Given the description of an element on the screen output the (x, y) to click on. 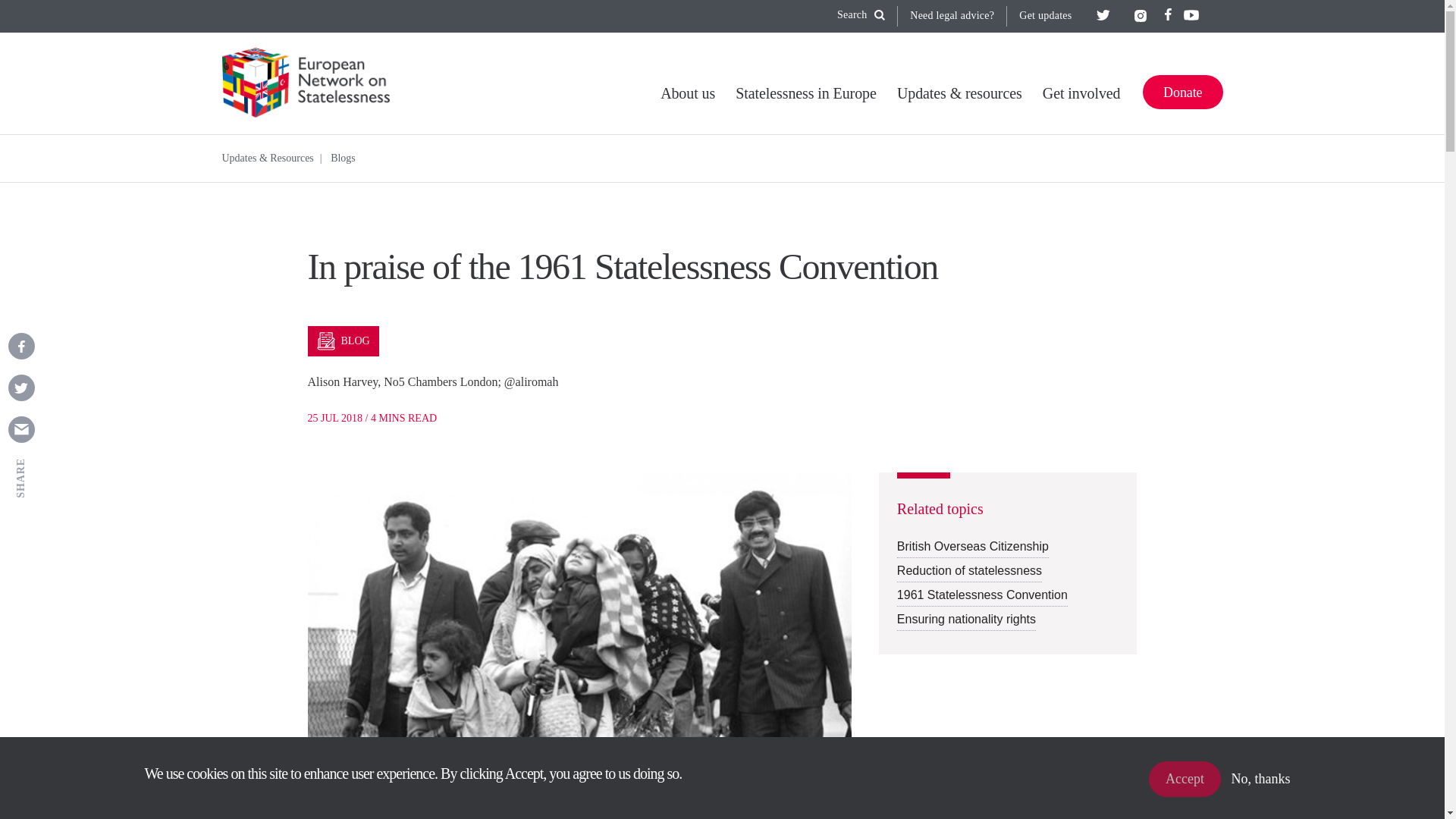
Follow us on twitter (1103, 15)
Here are some of the ways you can get involved in our work. (1081, 98)
Need legal advice? (952, 15)
Facebook (20, 345)
Search (860, 14)
Subscribe to our YouTube channel (1189, 15)
Twitter (20, 387)
Email (20, 429)
Subscribe to our YouTube channel (1189, 15)
Follow us on Instagram (1140, 15)
Follow us on Instagram (1140, 15)
Home (311, 82)
